Given the description of an element on the screen output the (x, y) to click on. 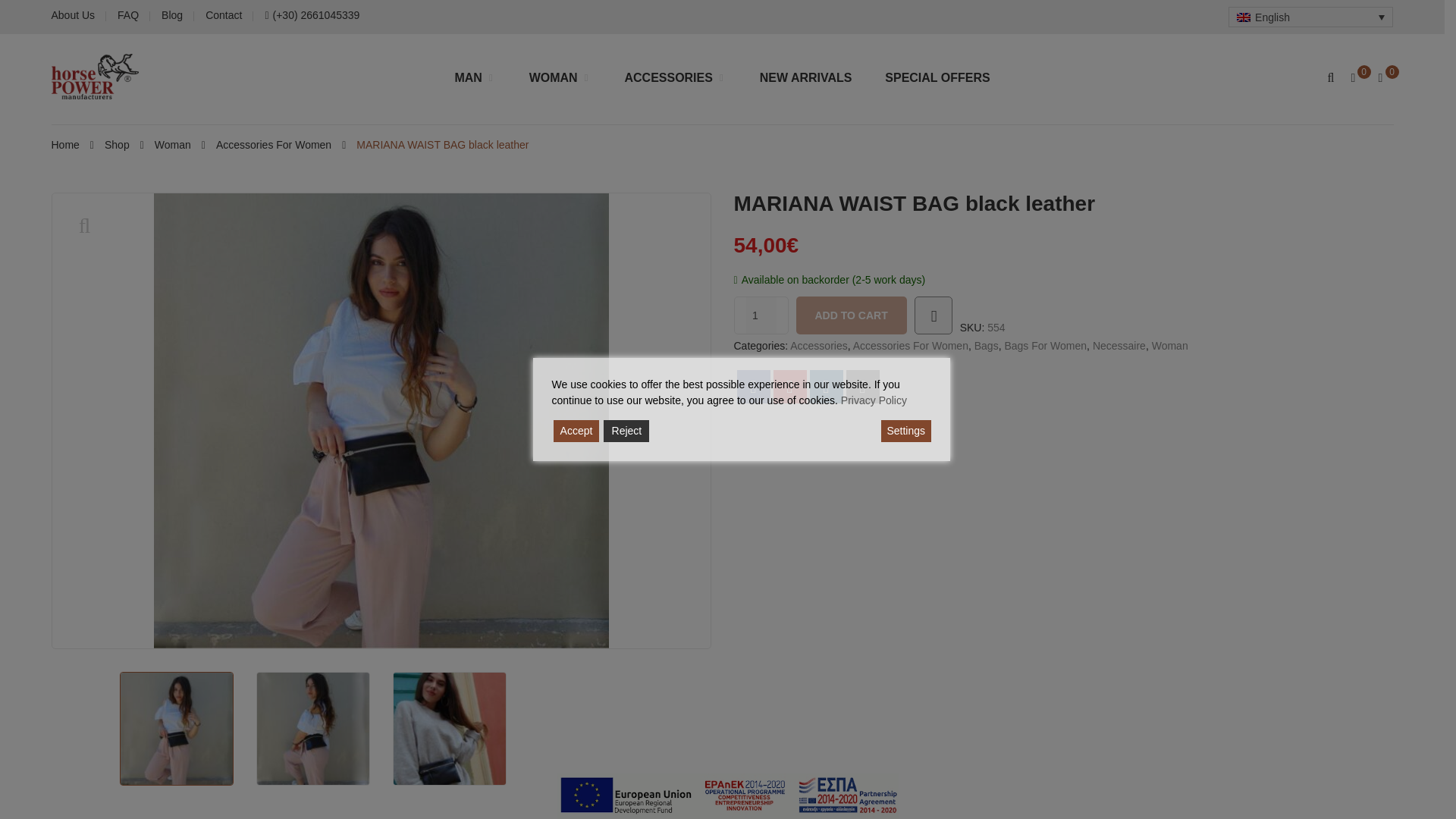
Contact (223, 15)
Blog (172, 15)
FAQ (127, 15)
SPECIAL OFFERS (937, 77)
Home (65, 145)
WOMAN (560, 77)
0 (1385, 78)
ACCESSORIES (675, 77)
MAN (474, 77)
0 (1356, 78)
English (1310, 16)
horsePower (94, 75)
NEW ARRIVALS (805, 77)
About Us (73, 15)
